Given the description of an element on the screen output the (x, y) to click on. 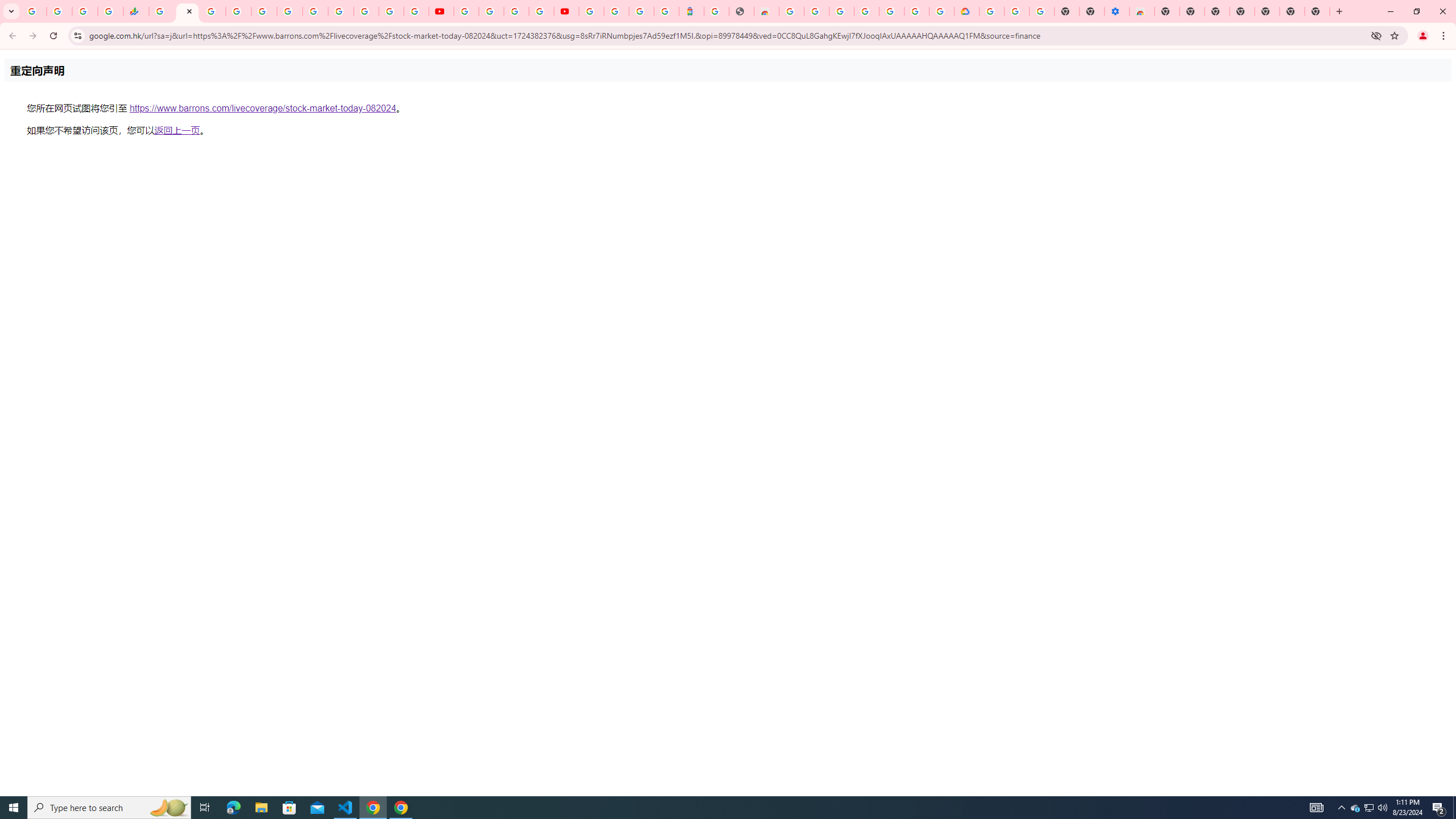
New Tab (1317, 11)
